Given the description of an element on the screen output the (x, y) to click on. 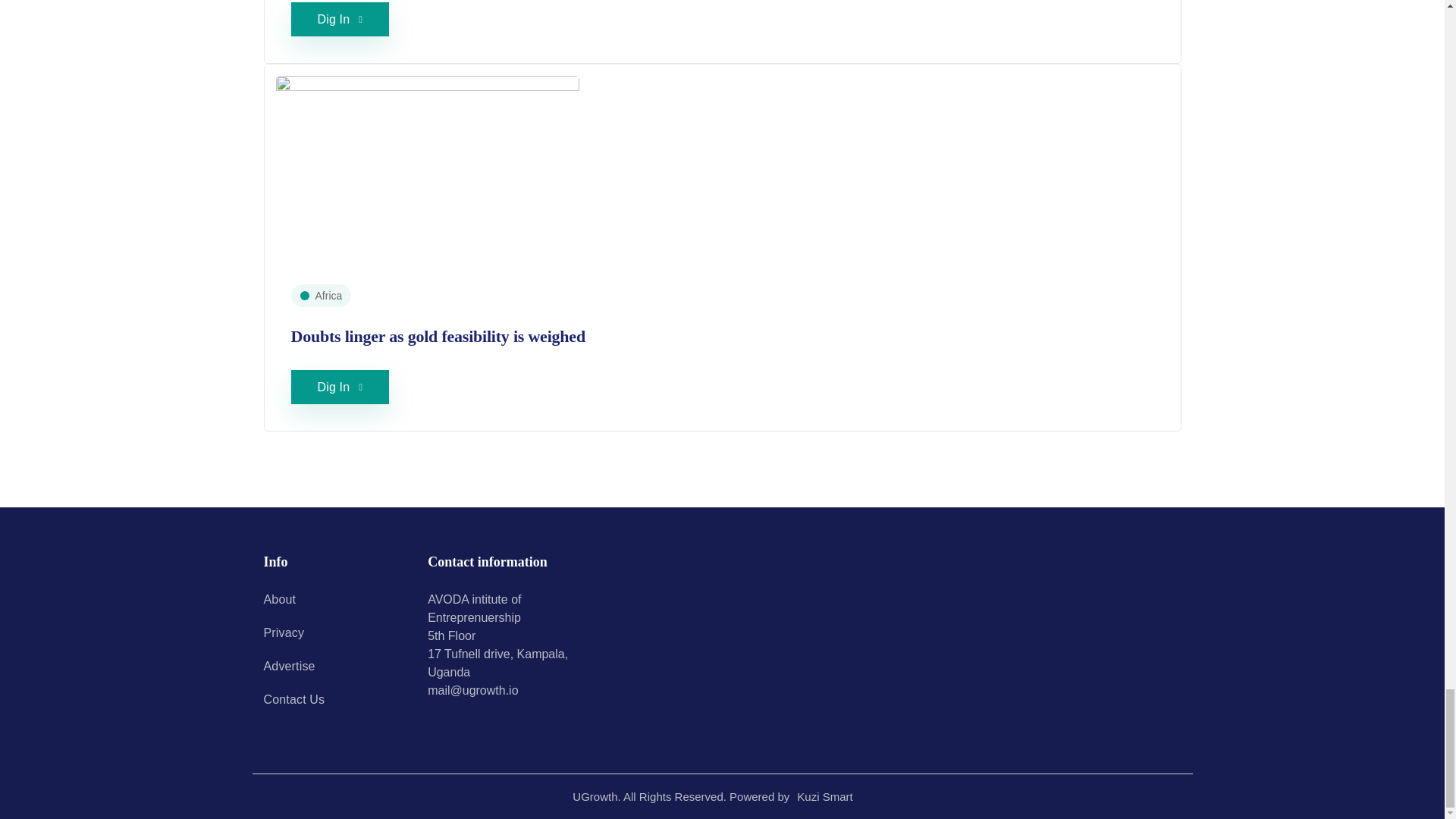
Doubts linger as gold feasibility is weighed (438, 335)
Doubts linger as gold feasibility is weighed (427, 169)
